Given the description of an element on the screen output the (x, y) to click on. 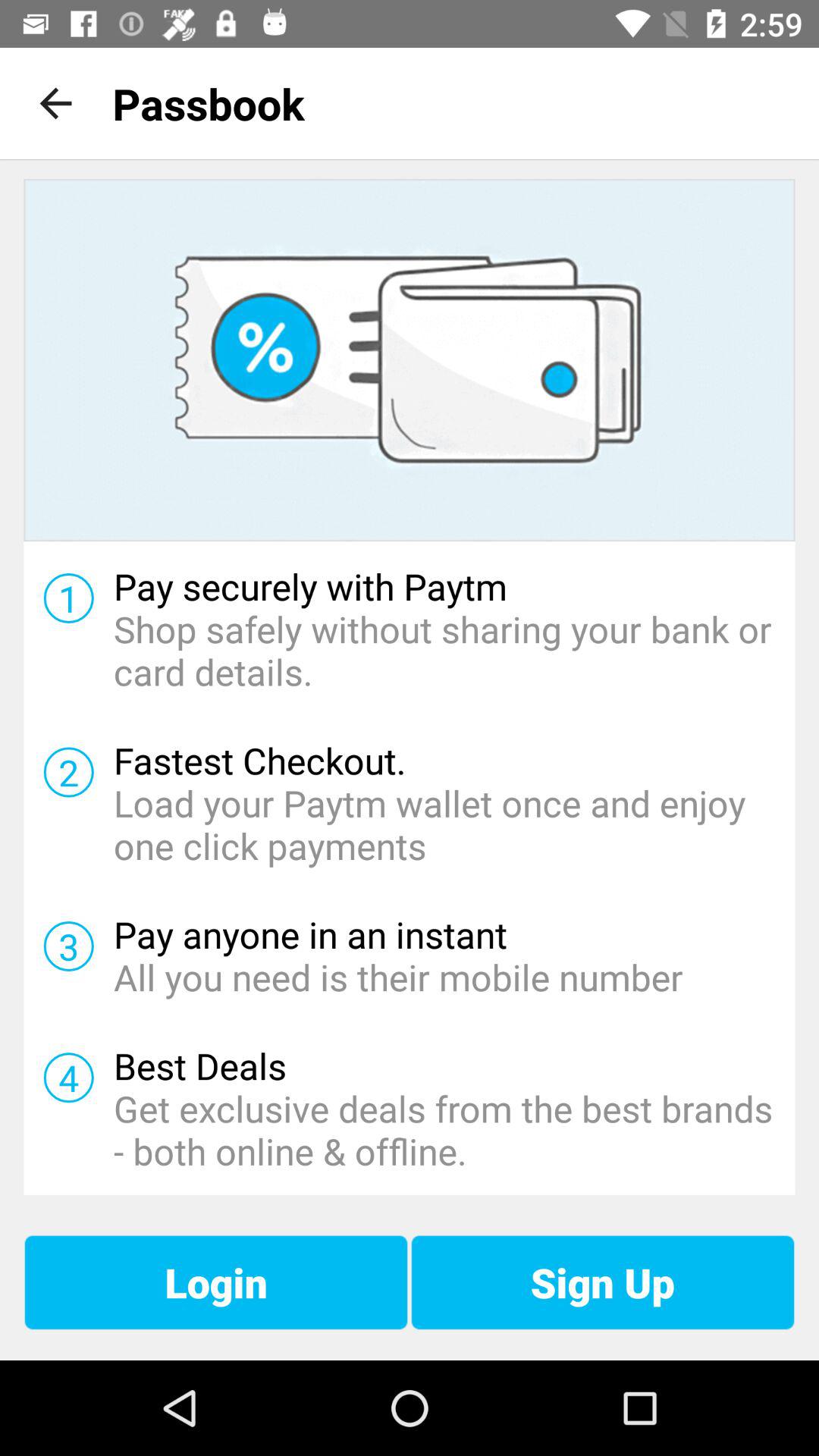
scroll to the passbook icon (208, 103)
